Given the description of an element on the screen output the (x, y) to click on. 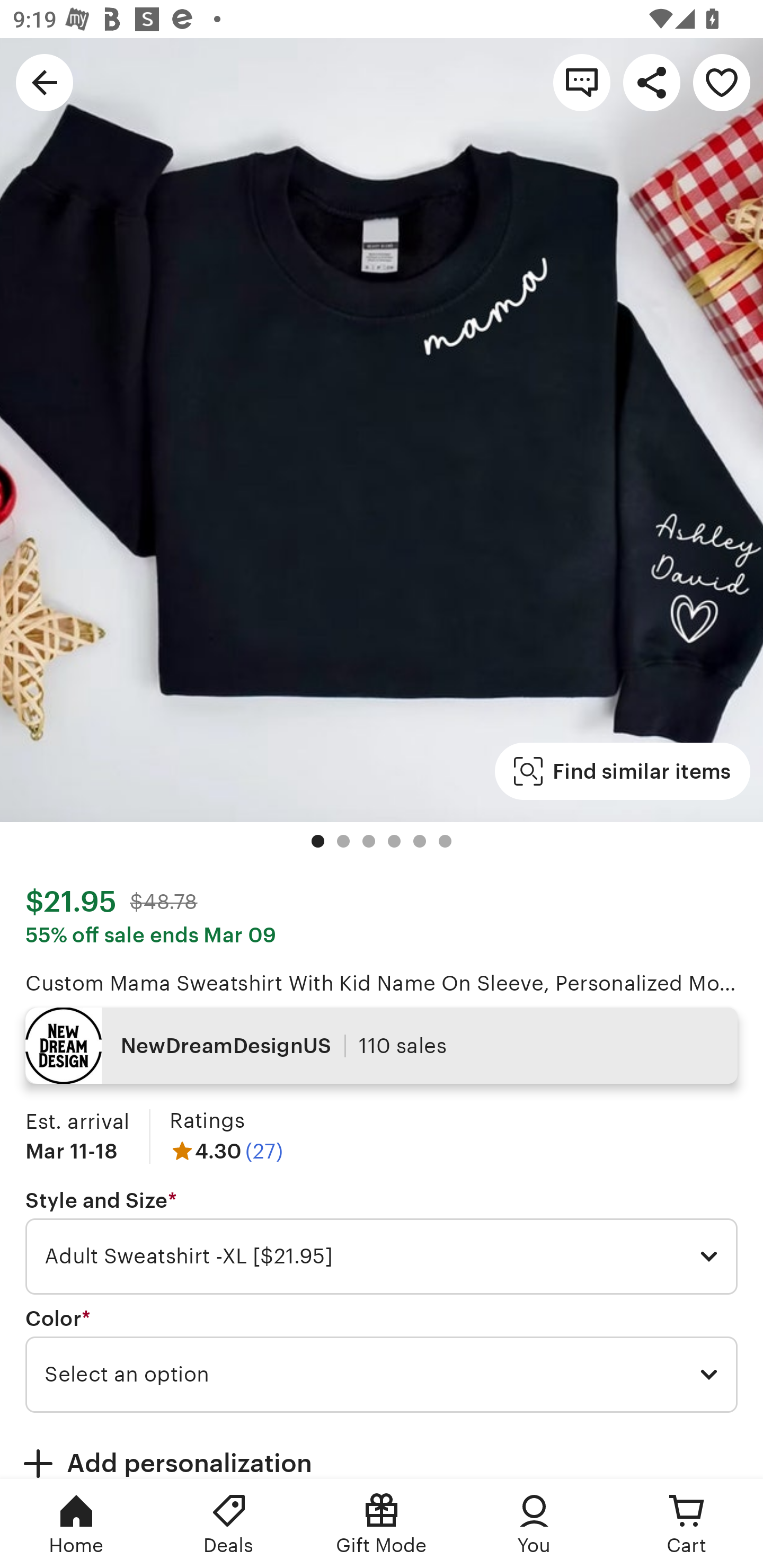
Navigate up (44, 81)
Contact shop (581, 81)
Share (651, 81)
Find similar items (622, 771)
NewDreamDesignUS 110 sales (381, 1045)
Ratings (206, 1120)
4.30 (27) (226, 1150)
Adult Sweatshirt -XL [$21.95] (381, 1256)
Color * Required Select an option (381, 1359)
Select an option (381, 1373)
Add personalization Add personalization Required (381, 1451)
Deals (228, 1523)
Gift Mode (381, 1523)
You (533, 1523)
Cart (686, 1523)
